Given the description of an element on the screen output the (x, y) to click on. 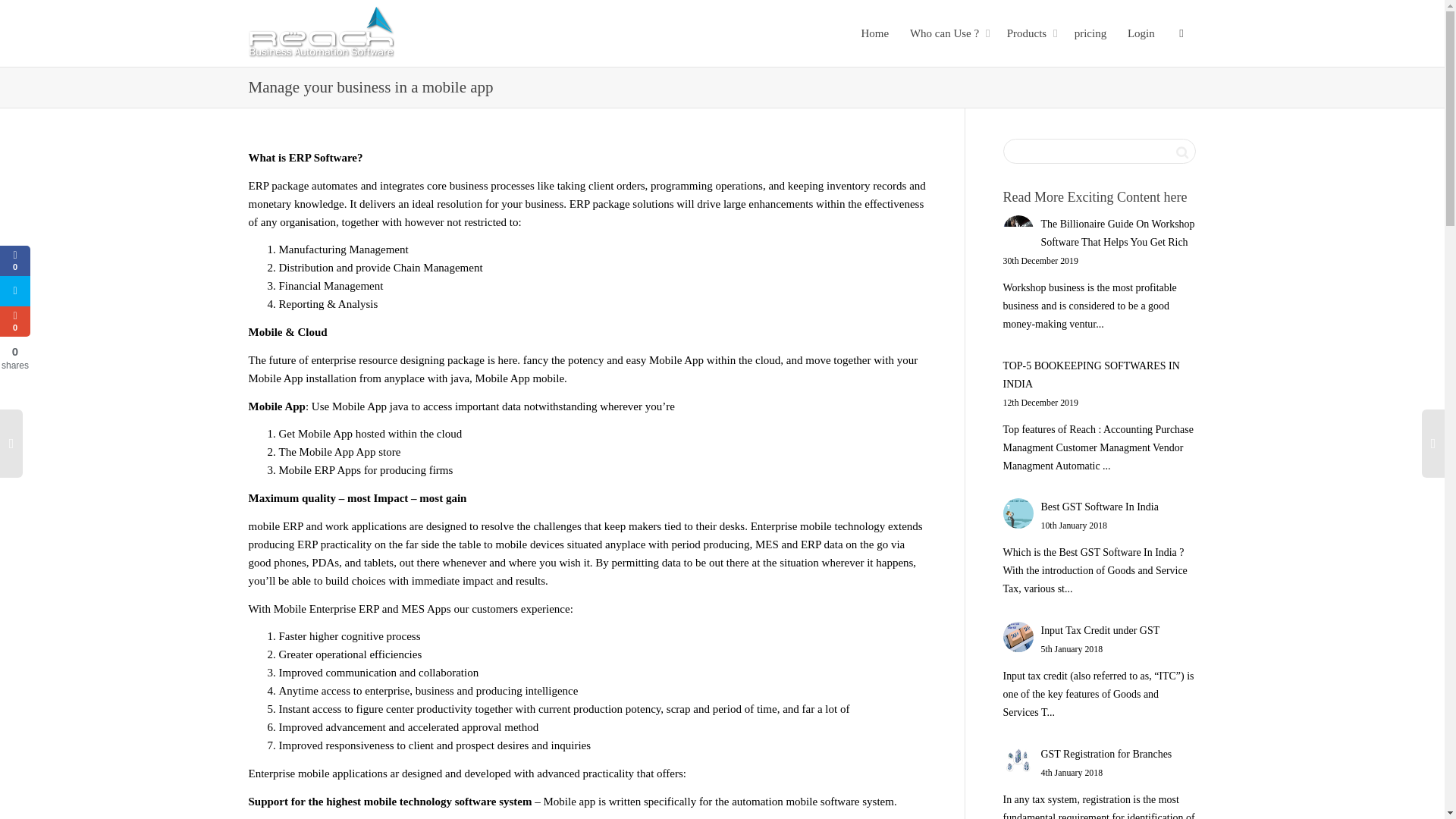
Who can Use ? (947, 33)
Search (1181, 151)
Who can Use ? (947, 33)
Reach Accounting Software (321, 33)
